Given the description of an element on the screen output the (x, y) to click on. 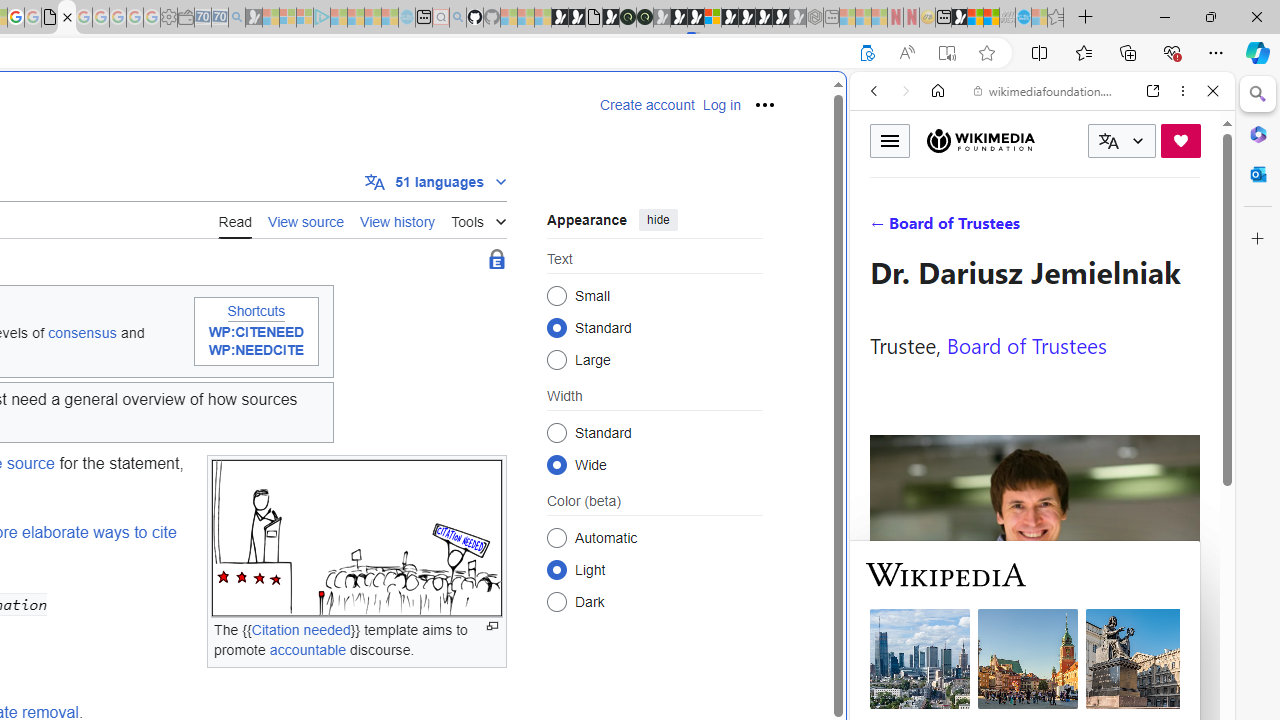
Toggle menu (890, 140)
hide (658, 219)
Log in (721, 105)
Wide (556, 464)
